Given the description of an element on the screen output the (x, y) to click on. 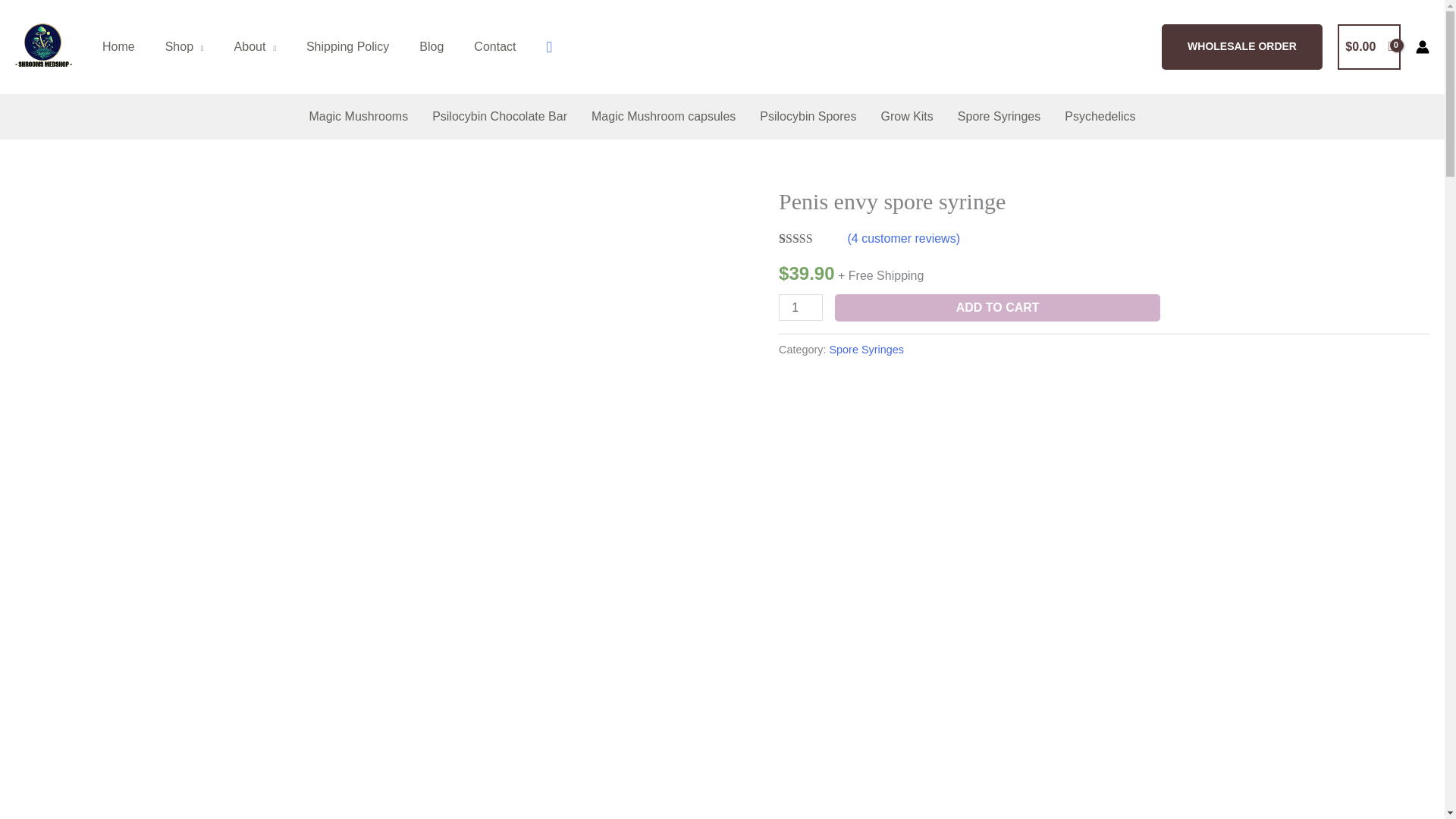
1 (800, 307)
Psychedelics (1099, 116)
Grow Kits (905, 116)
WHOLESALE ORDER (1241, 46)
Home (118, 46)
Magic Mushroom capsules (663, 116)
Shop (184, 46)
Psilocybin Chocolate Bar (499, 116)
Spore Syringes (866, 349)
ADD TO CART (997, 307)
Psilocybin Spores (807, 116)
About (255, 46)
Spore Syringes (998, 116)
Blog (431, 46)
Shipping Policy (347, 46)
